Given the description of an element on the screen output the (x, y) to click on. 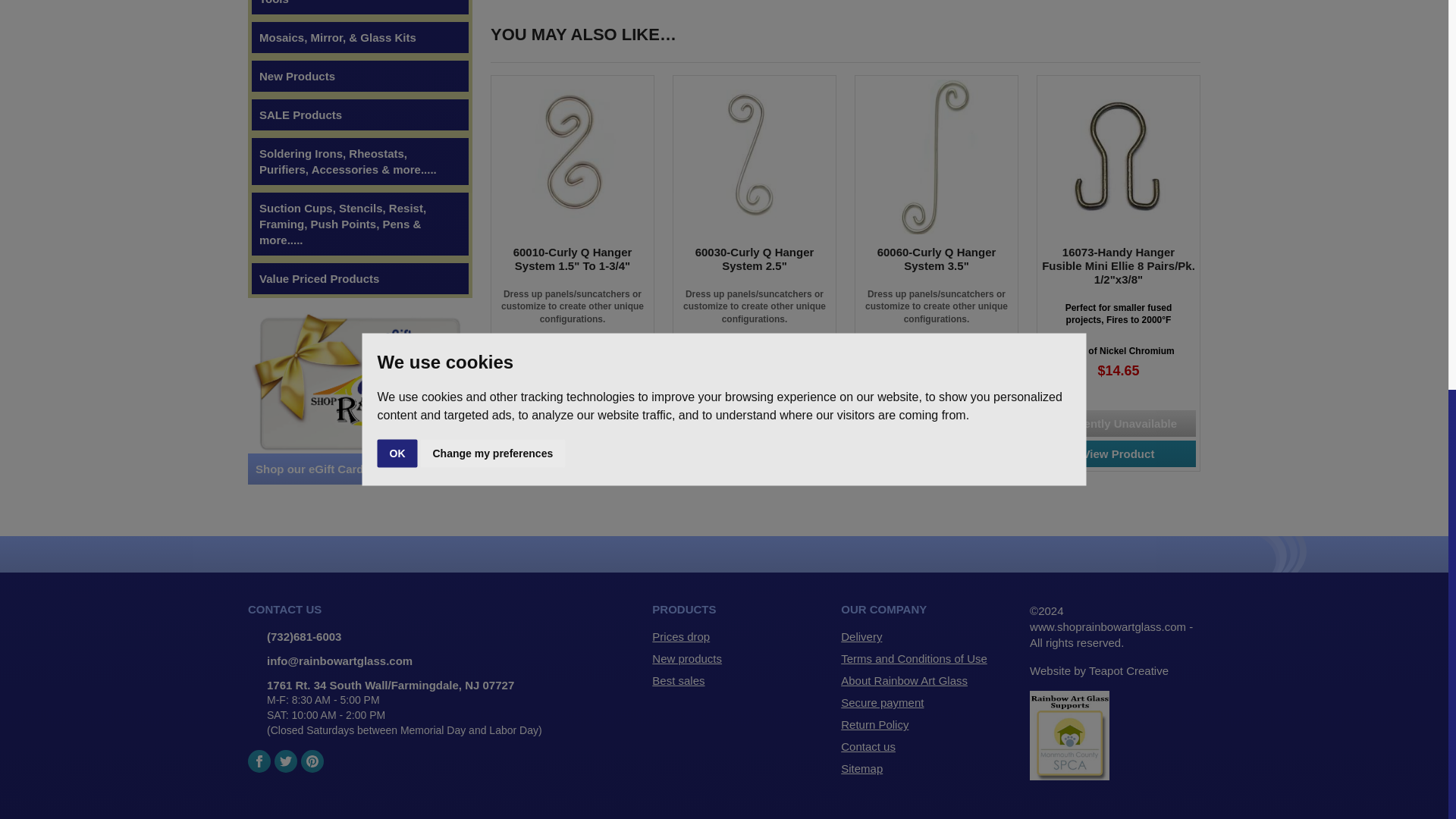
SALE Products (359, 114)
New Products (359, 75)
